Given the description of an element on the screen output the (x, y) to click on. 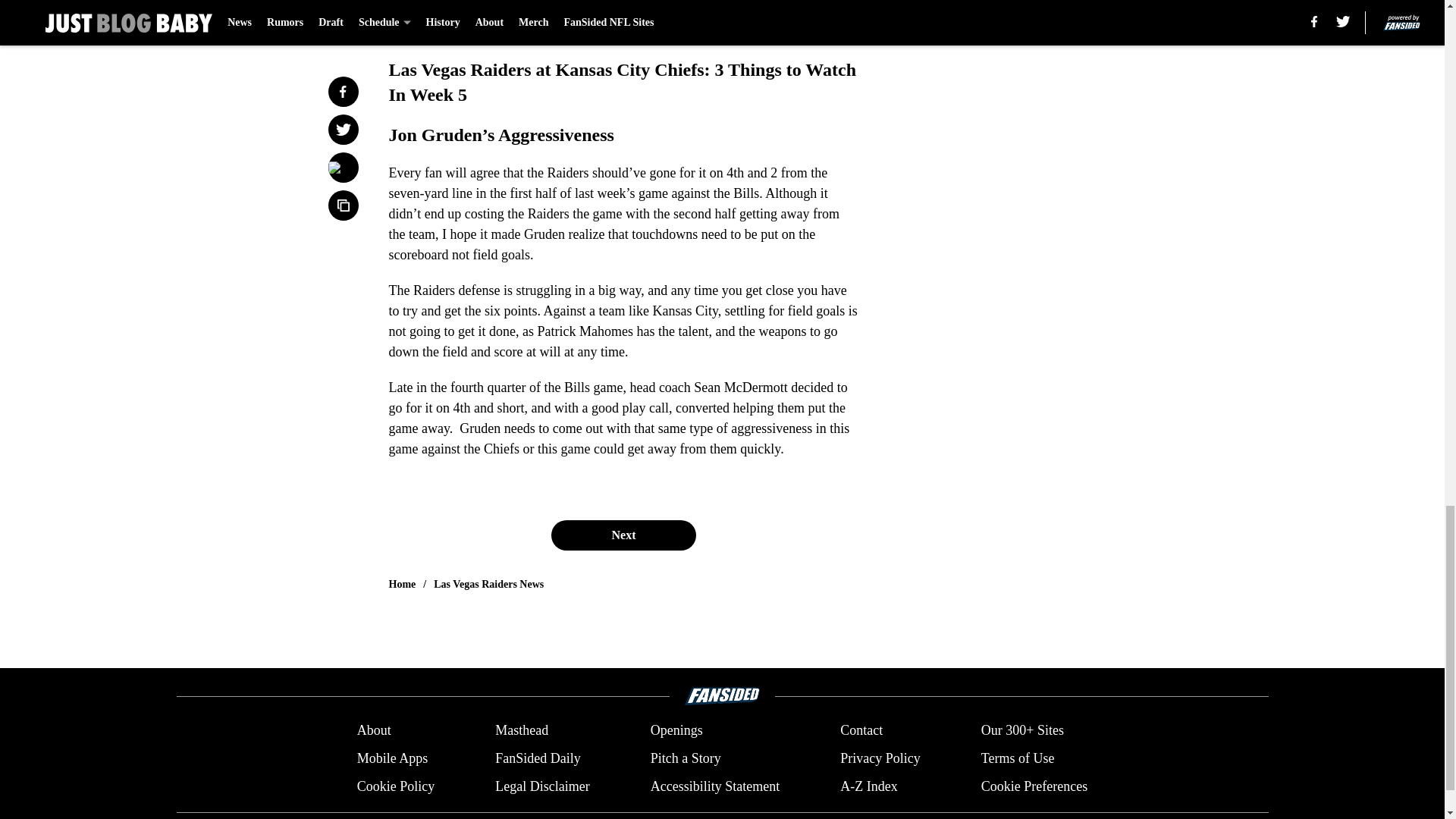
Legal Disclaimer (542, 786)
Contact (861, 730)
Terms of Use (1017, 758)
A-Z Index (868, 786)
Mobile Apps (392, 758)
FanSided Daily (537, 758)
Openings (676, 730)
Home (401, 584)
About (373, 730)
Masthead (521, 730)
Pitch a Story (685, 758)
Cookie Policy (395, 786)
Accessibility Statement (714, 786)
Next (622, 535)
Las Vegas Raiders News (488, 584)
